Given the description of an element on the screen output the (x, y) to click on. 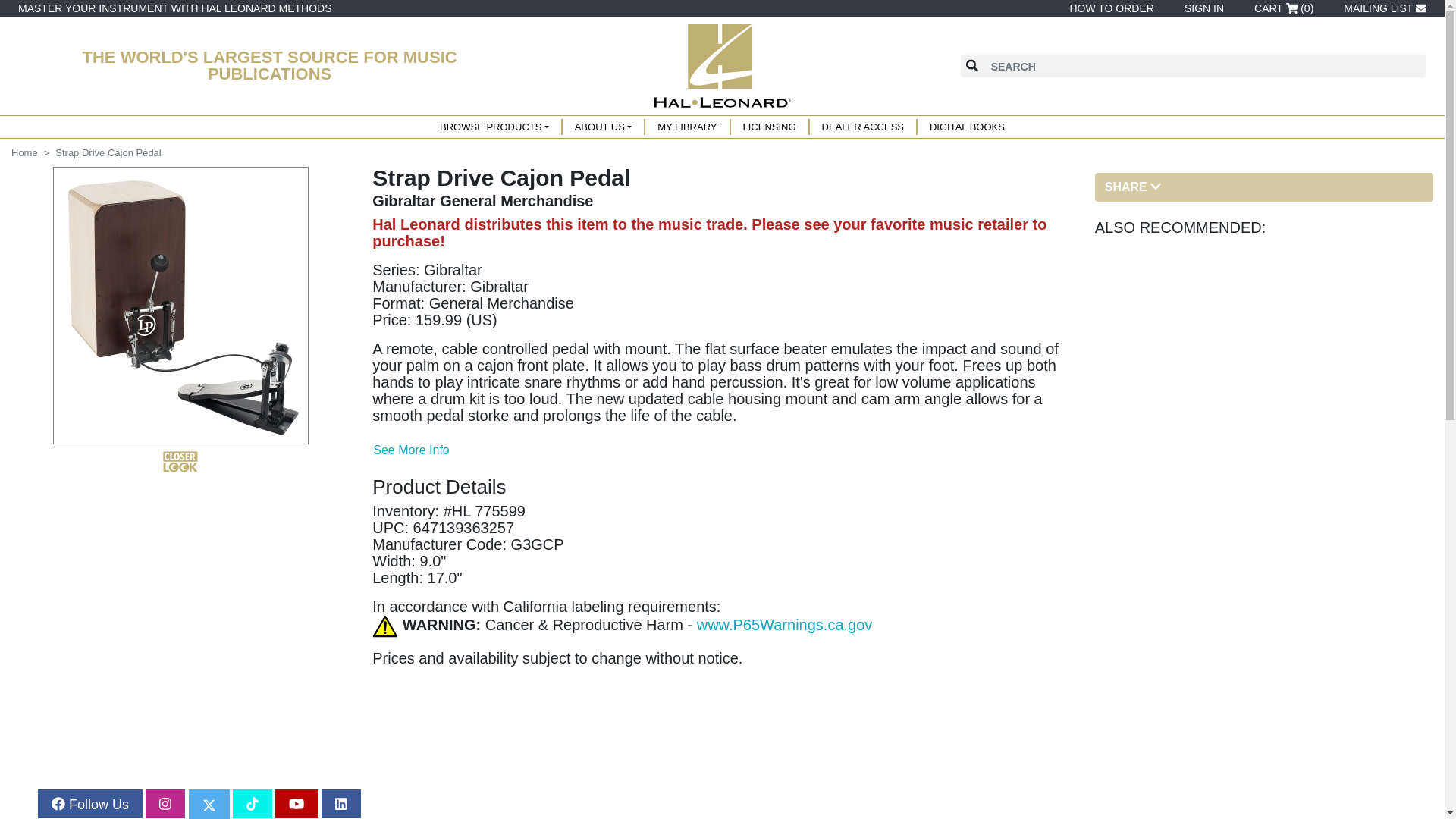
MASTER YOUR INSTRUMENT WITH HAL LEONARD METHODS (174, 8)
MAILING LIST (1382, 8)
Closer Look (180, 461)
SIGN IN (1200, 8)
HOW TO ORDER (1108, 8)
